Given the description of an element on the screen output the (x, y) to click on. 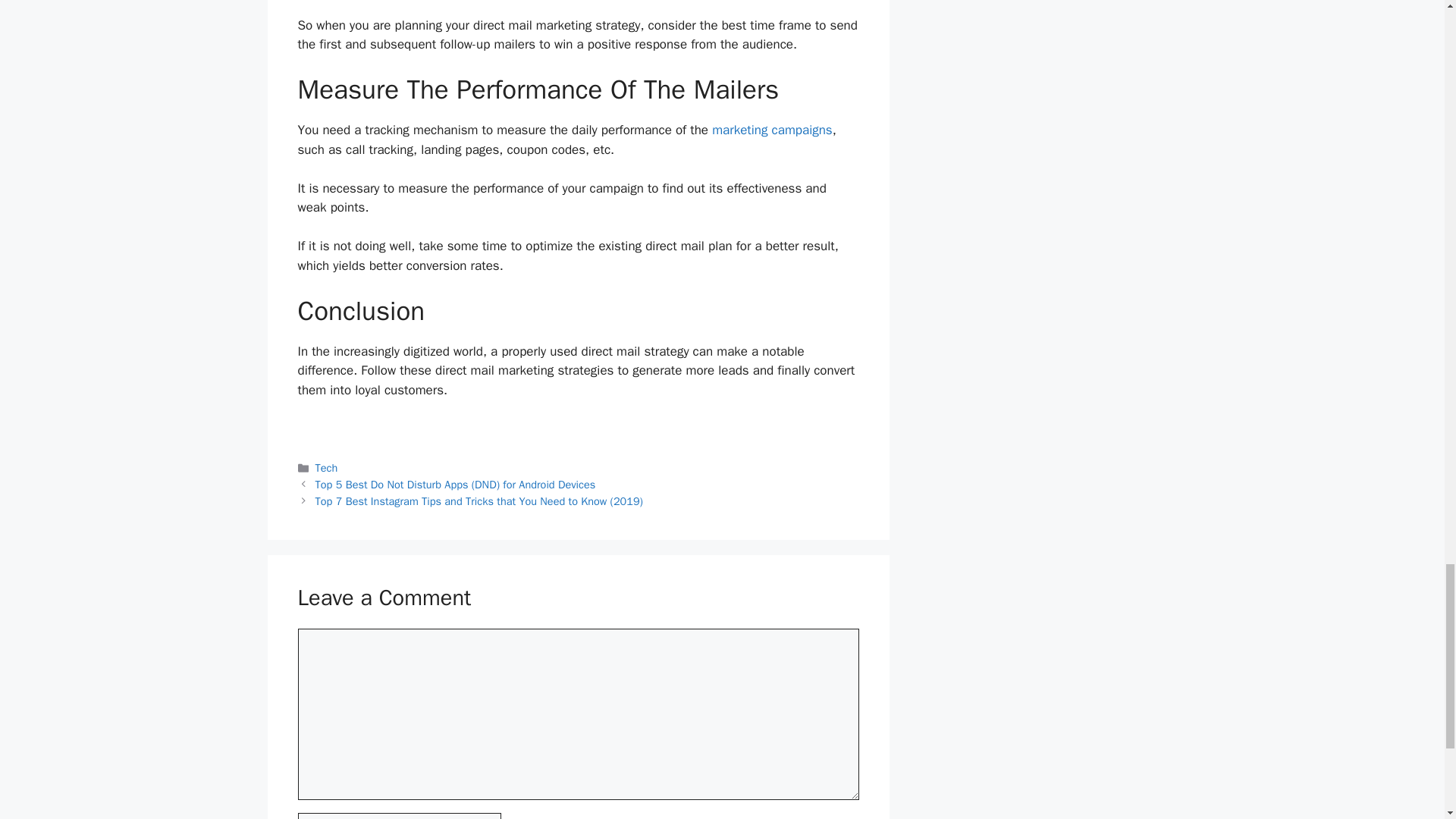
Tech (326, 468)
marketing campaigns (771, 130)
